Given the description of an element on the screen output the (x, y) to click on. 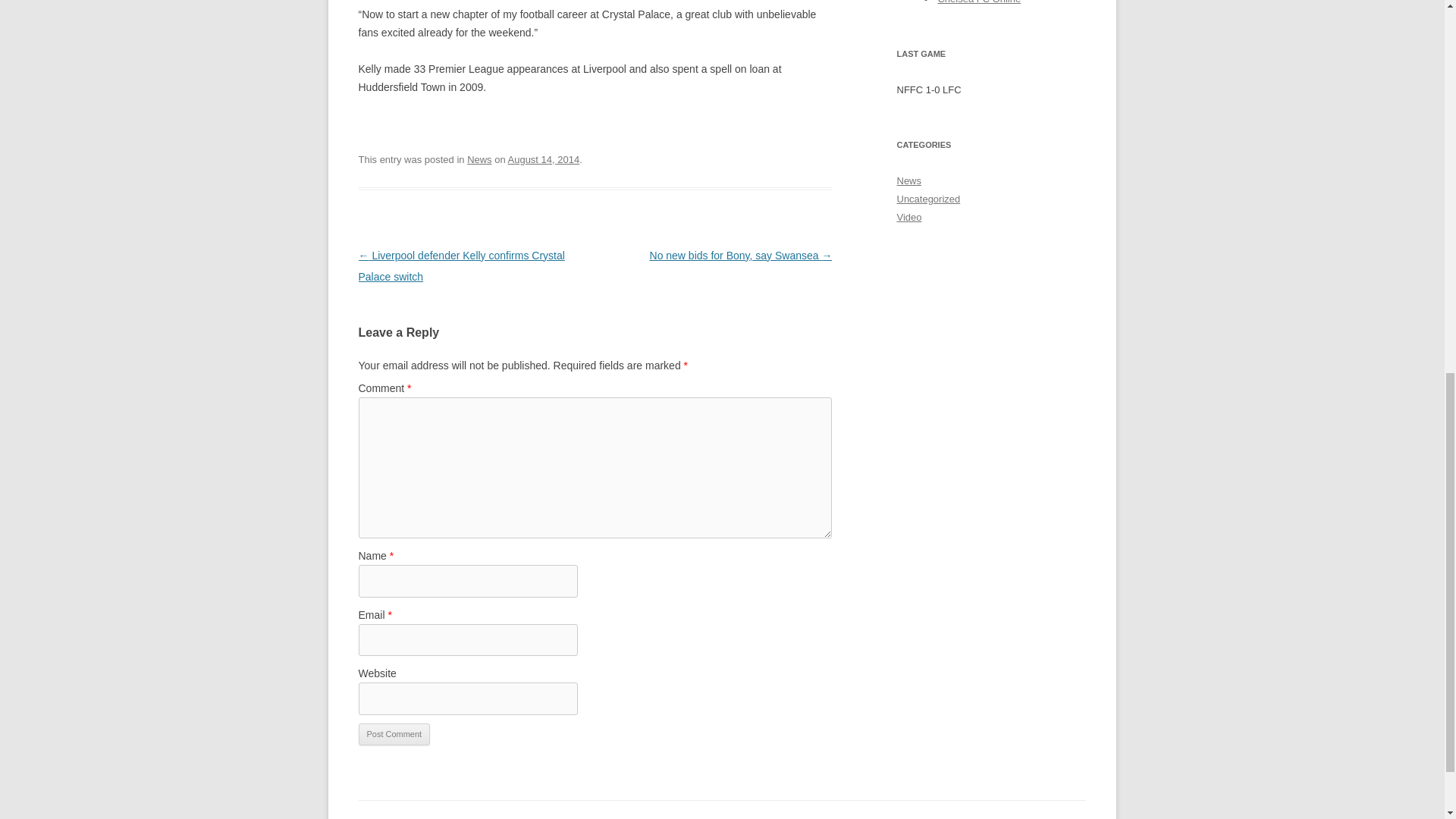
News (908, 180)
News (479, 159)
Post Comment (393, 734)
Video (908, 216)
August 14, 2014 (543, 159)
Post Comment (393, 734)
Uncategorized (927, 198)
11:40 pm (543, 159)
Chelsea FC Online (978, 2)
